Given the description of an element on the screen output the (x, y) to click on. 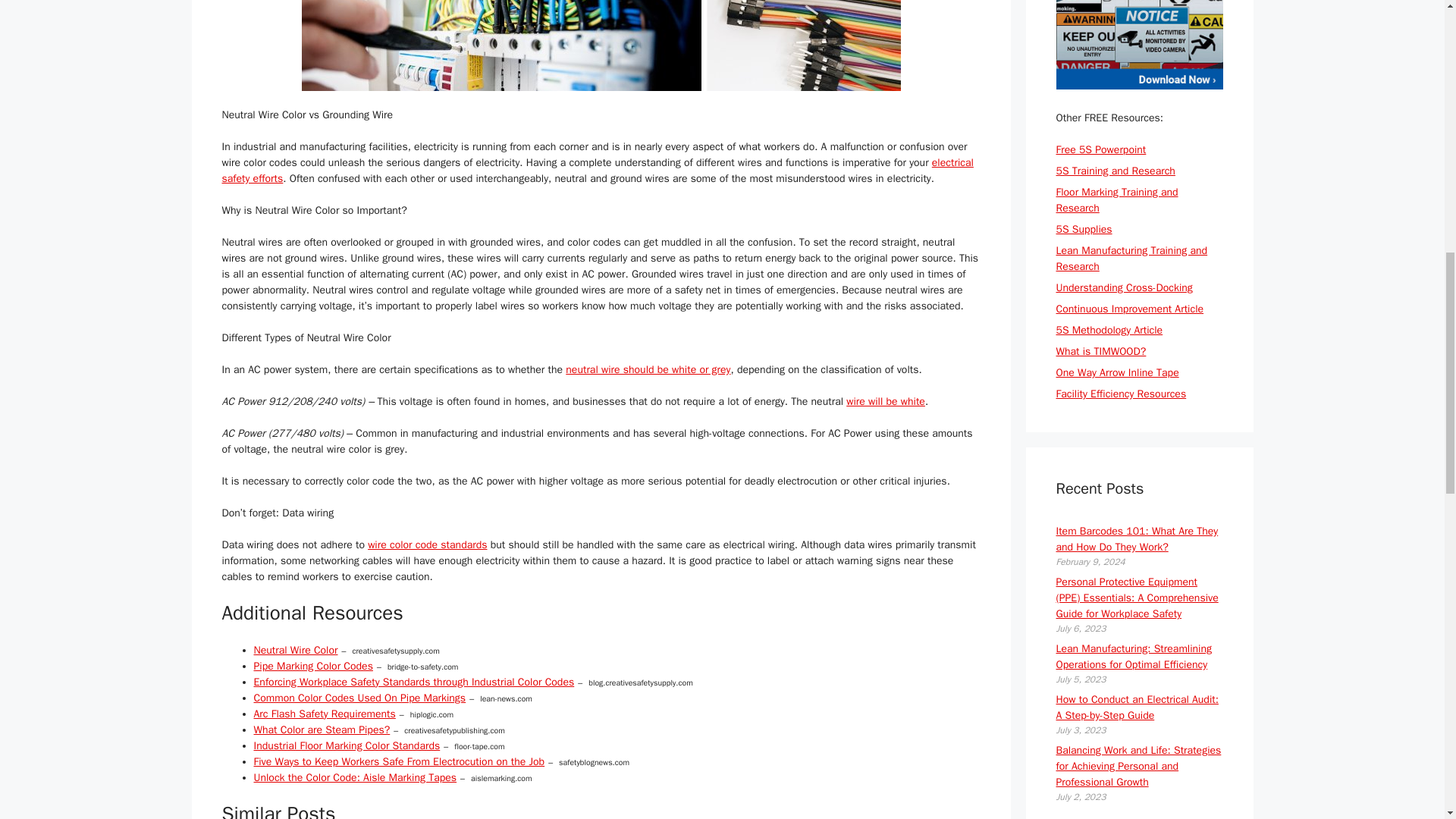
Arc Flash Safety Requirements (323, 713)
neutral wire should be white or grey (648, 369)
Common Color Codes Used On Pipe Markings (359, 697)
electrical safety efforts (596, 170)
Pipe Marking Color Codes (312, 666)
What Color are Steam Pipes? (321, 729)
Five Ways to Keep Workers Safe From Electrocution on the Job (398, 761)
Five Ways to Keep Workers Safe From Electrocution on the Job (398, 761)
wire will be white (884, 400)
